Given the description of an element on the screen output the (x, y) to click on. 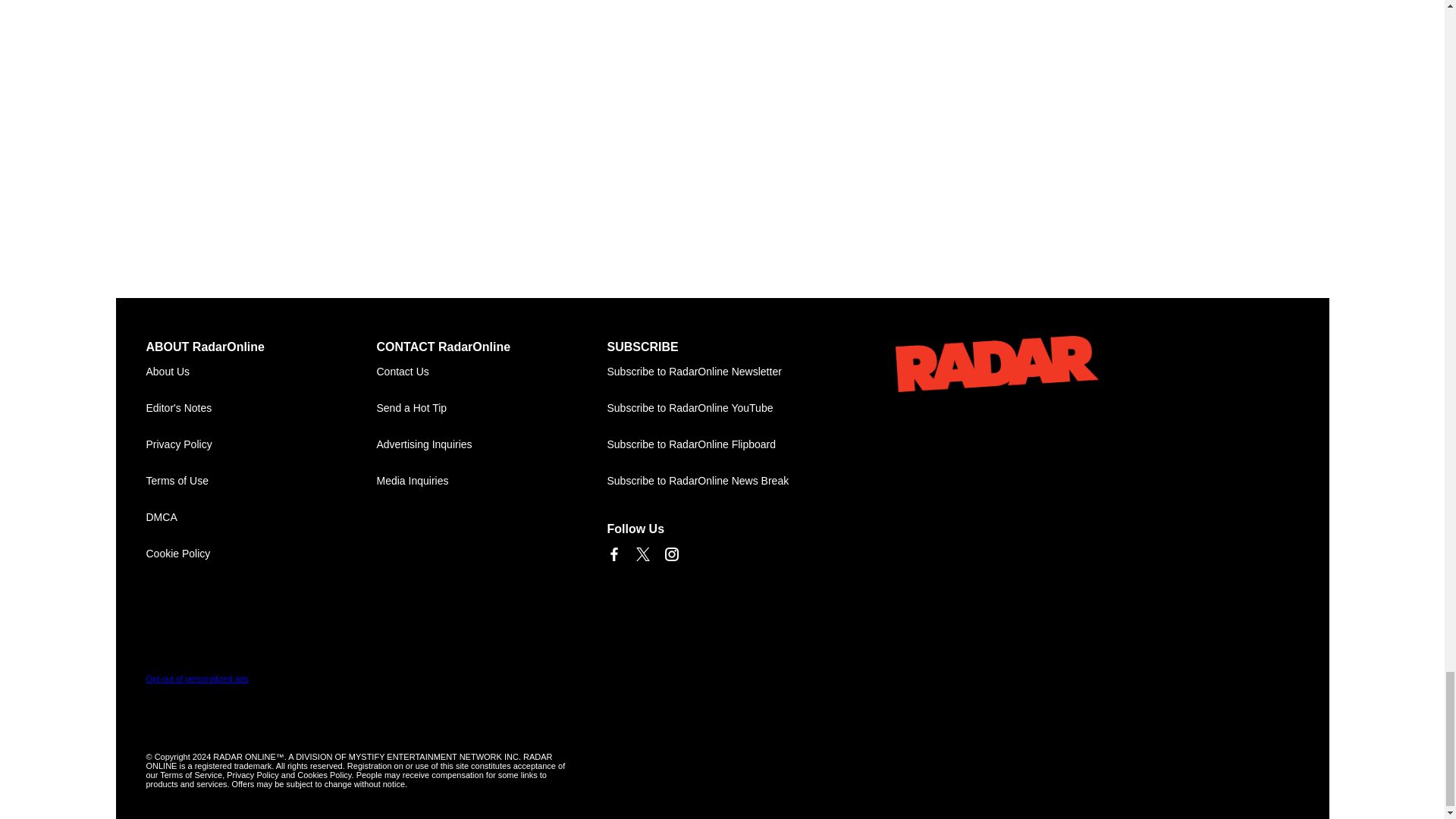
Link to X (641, 554)
About Us (260, 371)
Terms of Use (260, 481)
Editor's Notes (260, 408)
Advertising Inquiries (491, 444)
Editor's Notes (260, 408)
Subscribe (722, 371)
DMCA (260, 517)
Cookie Policy (260, 554)
Media Inquiries (491, 481)
Privacy Policy (260, 444)
Privacy Policy (260, 444)
Contact Us (491, 371)
Send a Hot Tip (491, 408)
Link to Facebook (613, 554)
